Given the description of an element on the screen output the (x, y) to click on. 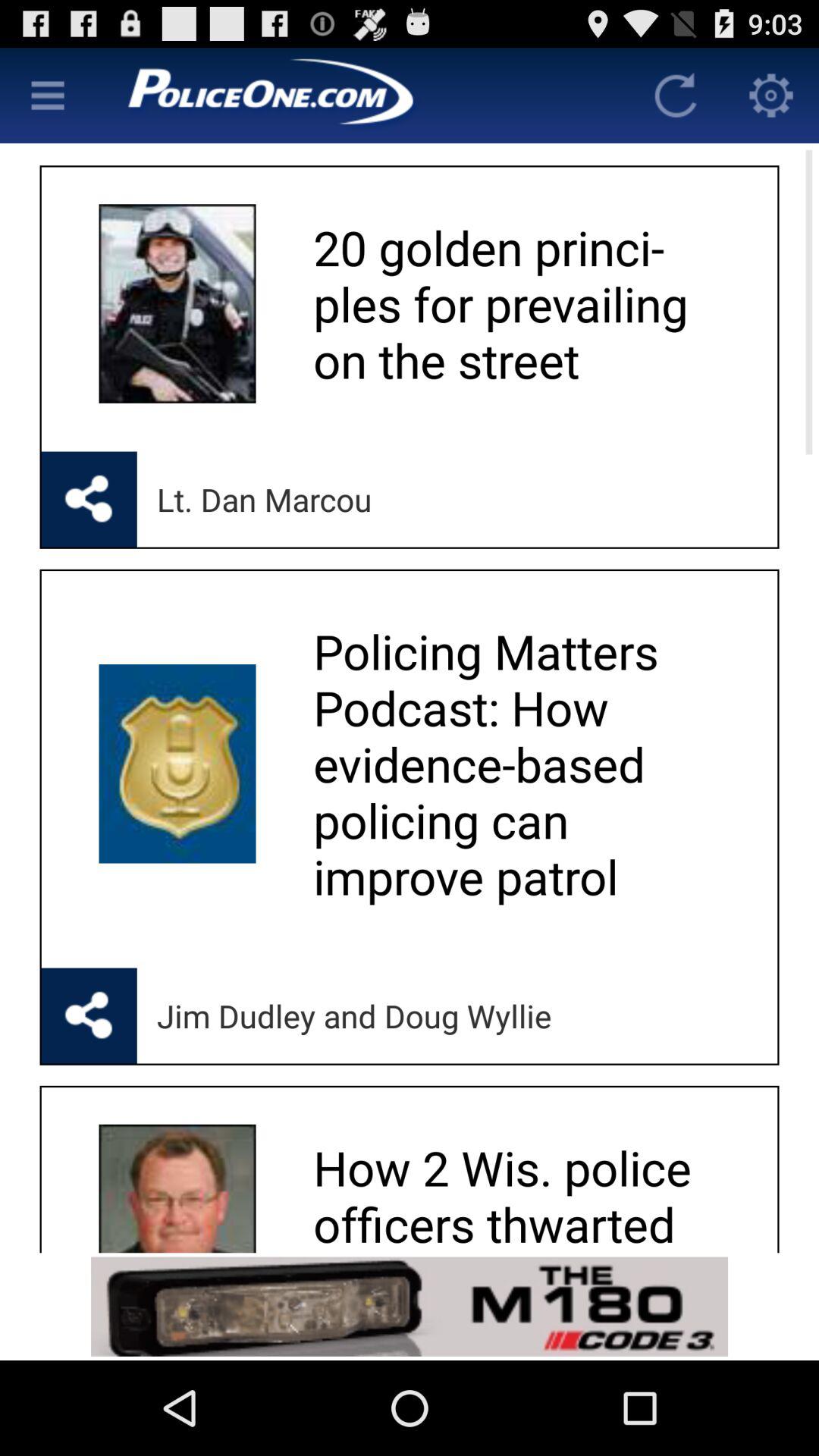
view the advertisement (409, 1306)
